Given the description of an element on the screen output the (x, y) to click on. 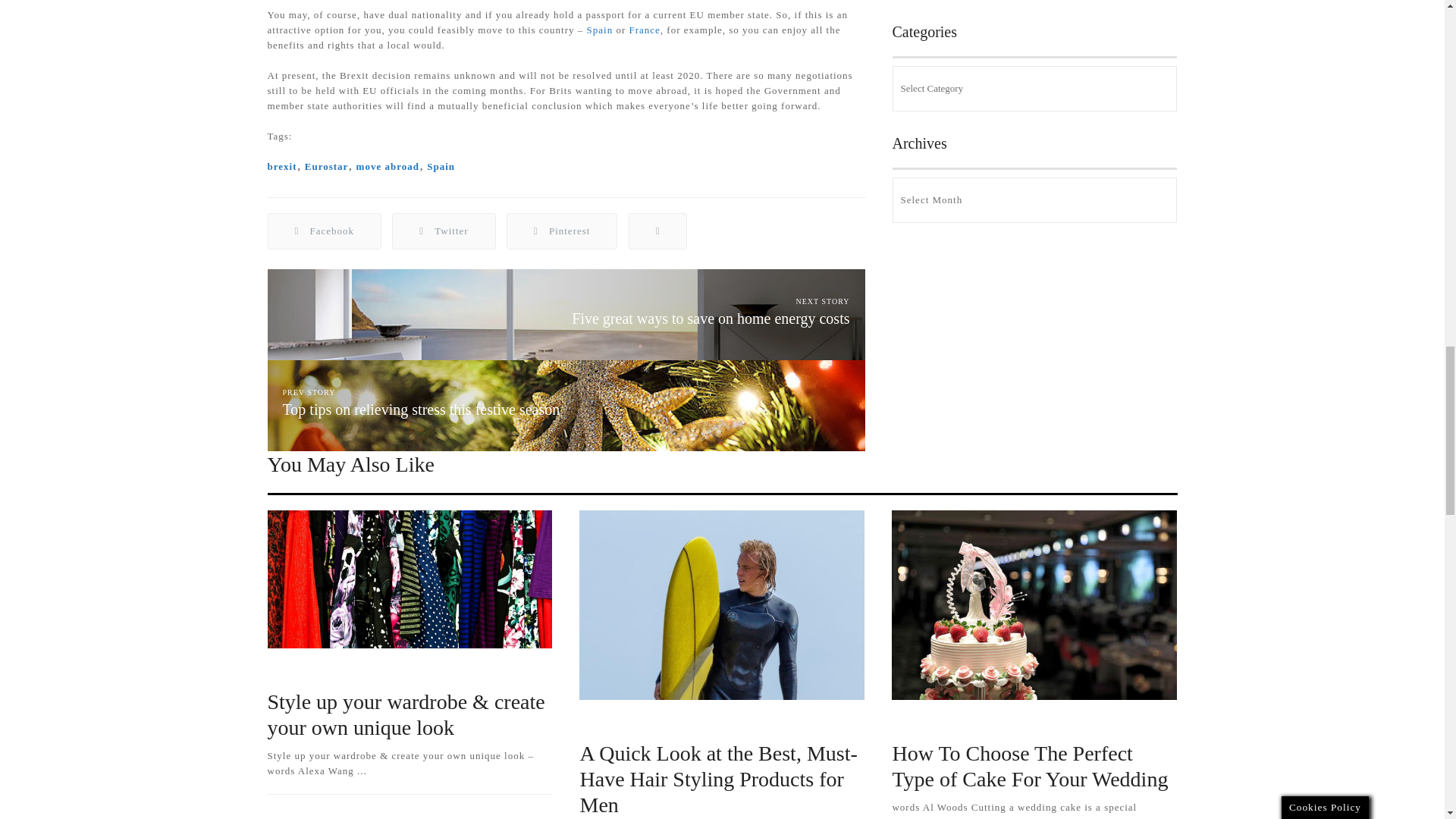
View all posts in 1431 (919, 722)
View all posts in 1853 (377, 671)
View all posts in 1853 (690, 722)
View all posts in 1431 (606, 722)
View all posts in 1853 (1002, 722)
View all posts in 1431 (293, 671)
